Given the description of an element on the screen output the (x, y) to click on. 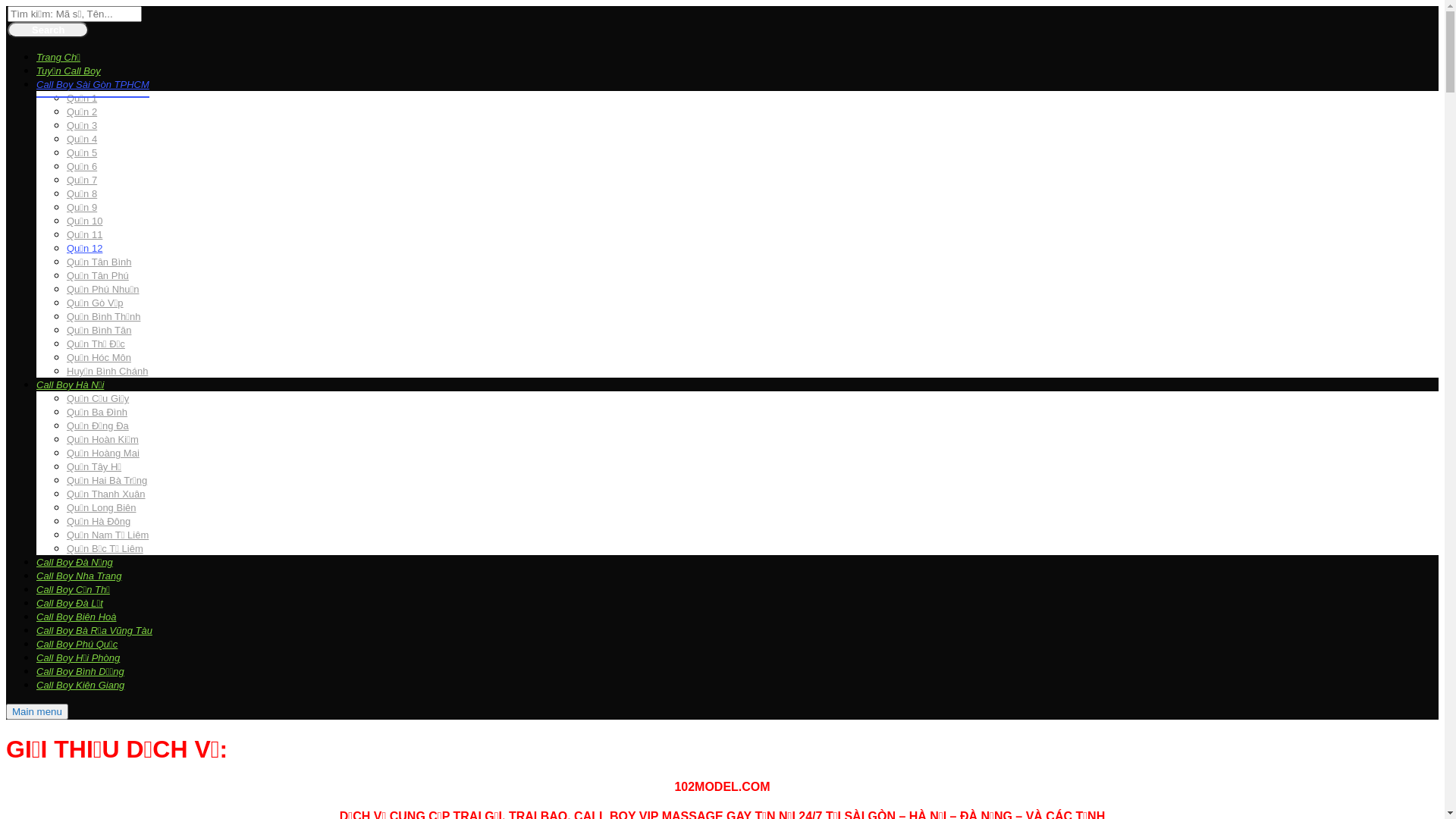
Call Boy Nha Trang Element type: text (78, 575)
Main menu Element type: text (37, 711)
Search Element type: text (47, 29)
